Given the description of an element on the screen output the (x, y) to click on. 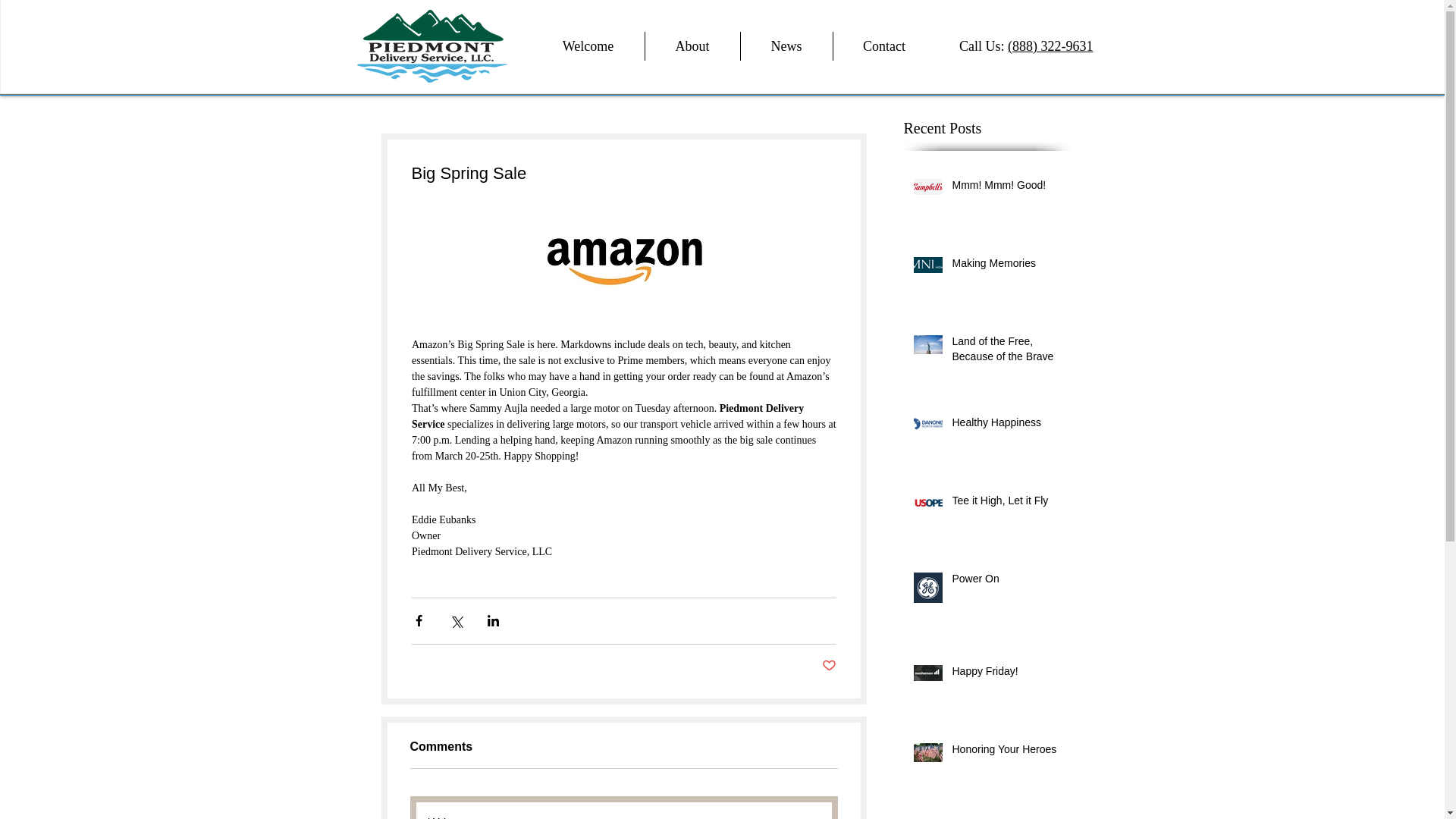
Healthy Happiness (1006, 425)
Power On (1006, 581)
Post not marked as liked (828, 666)
About (692, 45)
Land of the Free, Because of the Brave (1006, 352)
Honoring Your Heroes (1006, 752)
Contact (883, 45)
Write a comment... (622, 810)
News (785, 45)
Welcome (588, 45)
Happy Friday! (1006, 674)
Tee it High, Let it Fly (1006, 504)
Mmm! Mmm! Good! (1006, 188)
Making Memories (1006, 266)
